Given the description of an element on the screen output the (x, y) to click on. 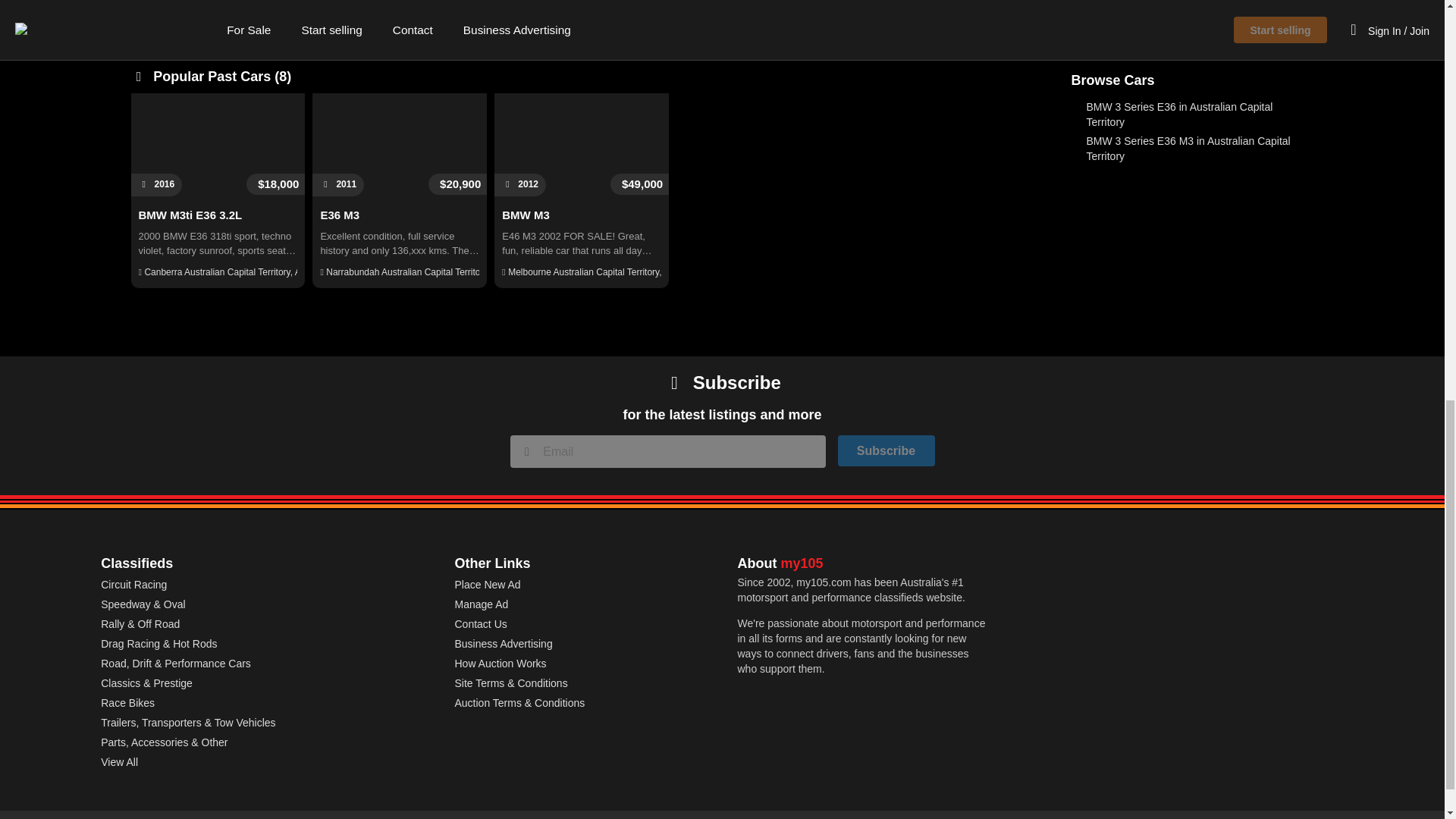
Circuit Racing (133, 584)
BMW 1 Series in Australian Capital Territory (1181, 64)
BMW 3 Series E36 M3 in Australian Capital Territory (1188, 148)
BMW 3 Series E36 in Australian Capital Territory (1179, 113)
BMW in Australian Capital Territory (1152, 42)
BMW 3 Series in Australian Capital Territory (1181, 83)
Subscribe (885, 450)
